Given the description of an element on the screen output the (x, y) to click on. 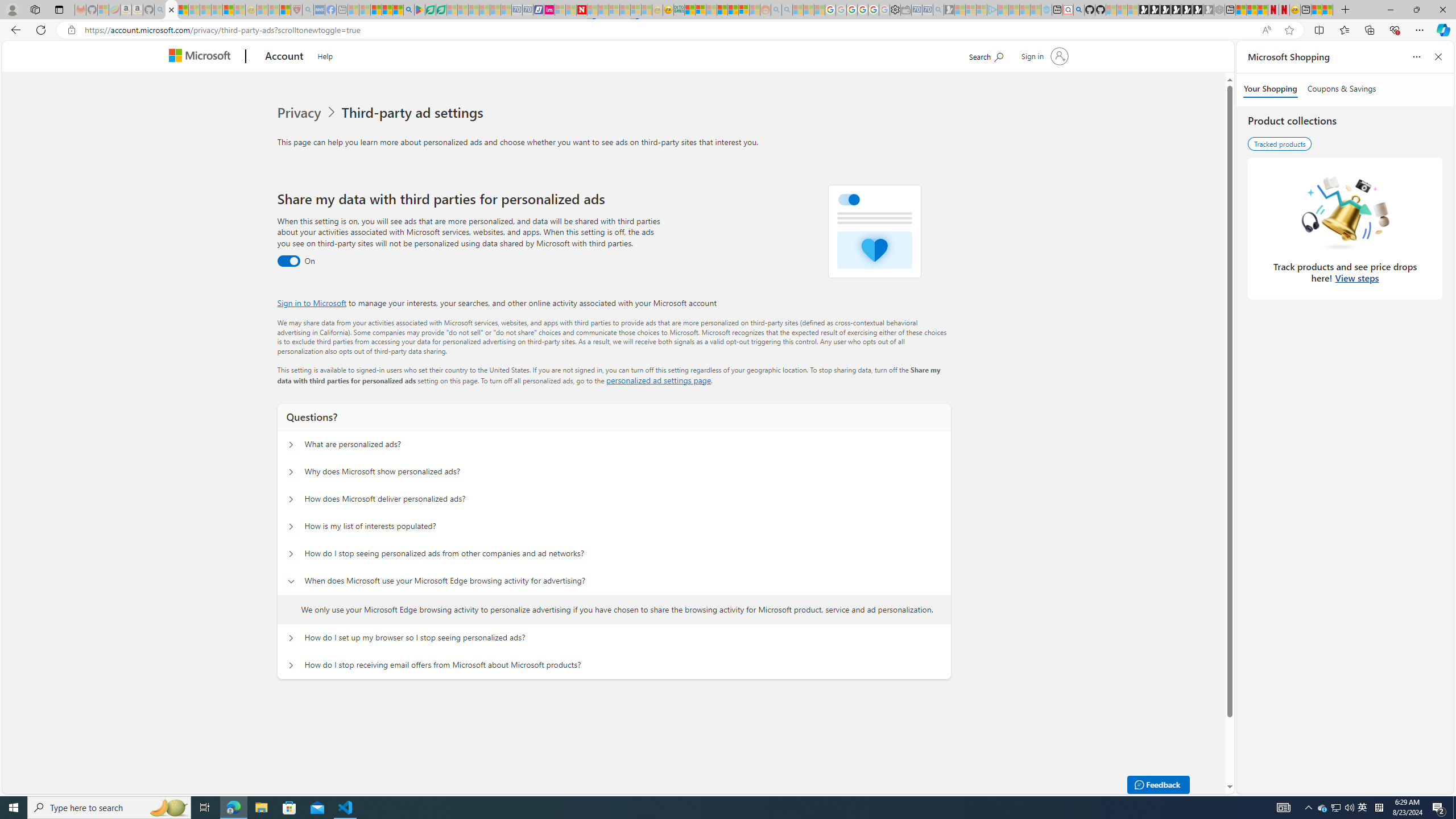
Questions? Why does Microsoft show personalized ads? (290, 472)
Sign in to Microsoft (311, 302)
Sign in to your account (1043, 55)
